Given the description of an element on the screen output the (x, y) to click on. 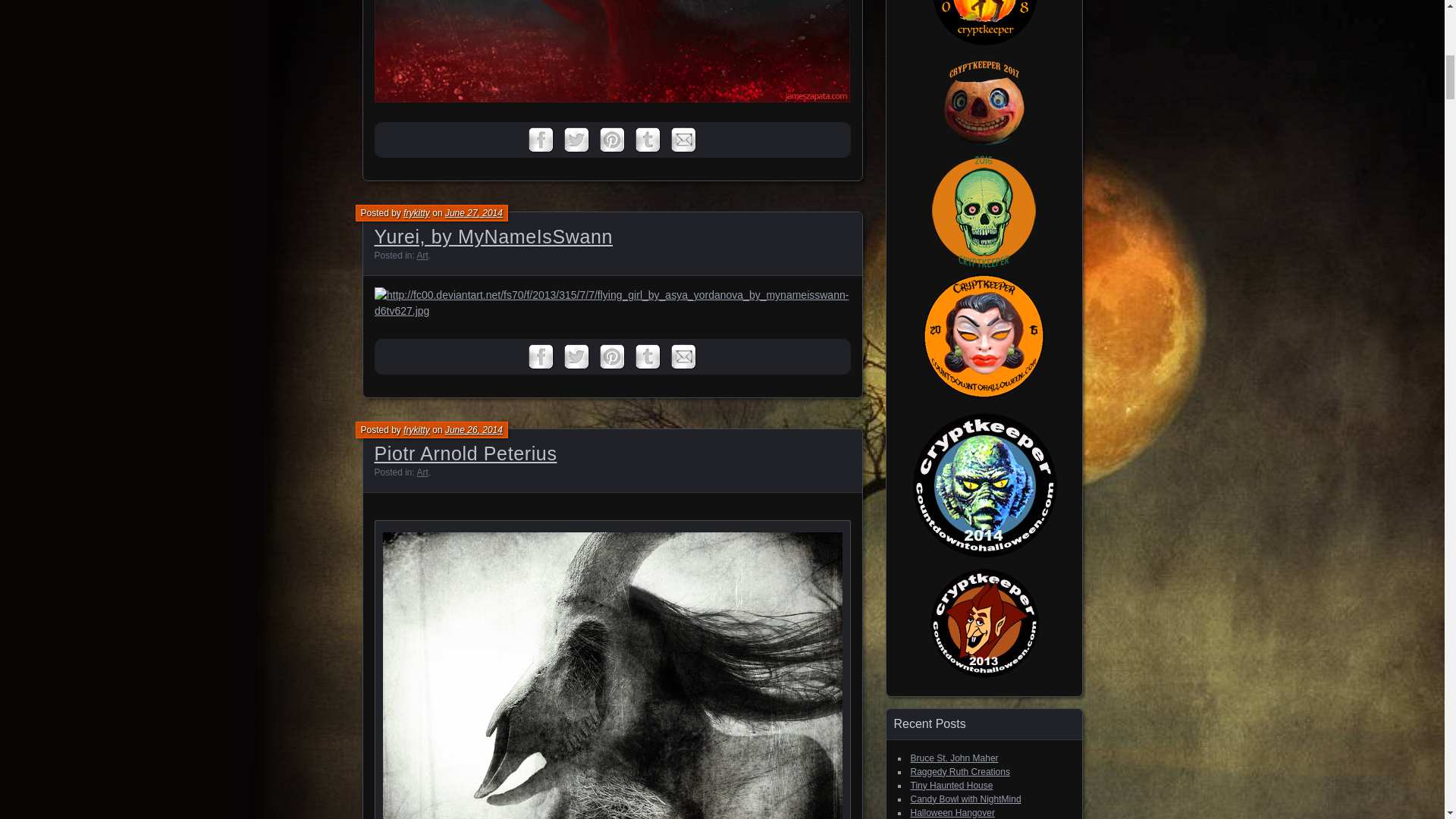
Art (422, 255)
frykitty (416, 213)
tumblr (647, 140)
facebook (540, 140)
email (683, 140)
June 27, 2014 (473, 213)
Art (422, 471)
Piotr Arnold Peterius (465, 453)
frykitty (416, 429)
twitter (576, 356)
pinterest (612, 356)
twitter (576, 140)
facebook (540, 356)
Yurei, by MyNameIsSwann (493, 236)
pinterest (612, 140)
